Given the description of an element on the screen output the (x, y) to click on. 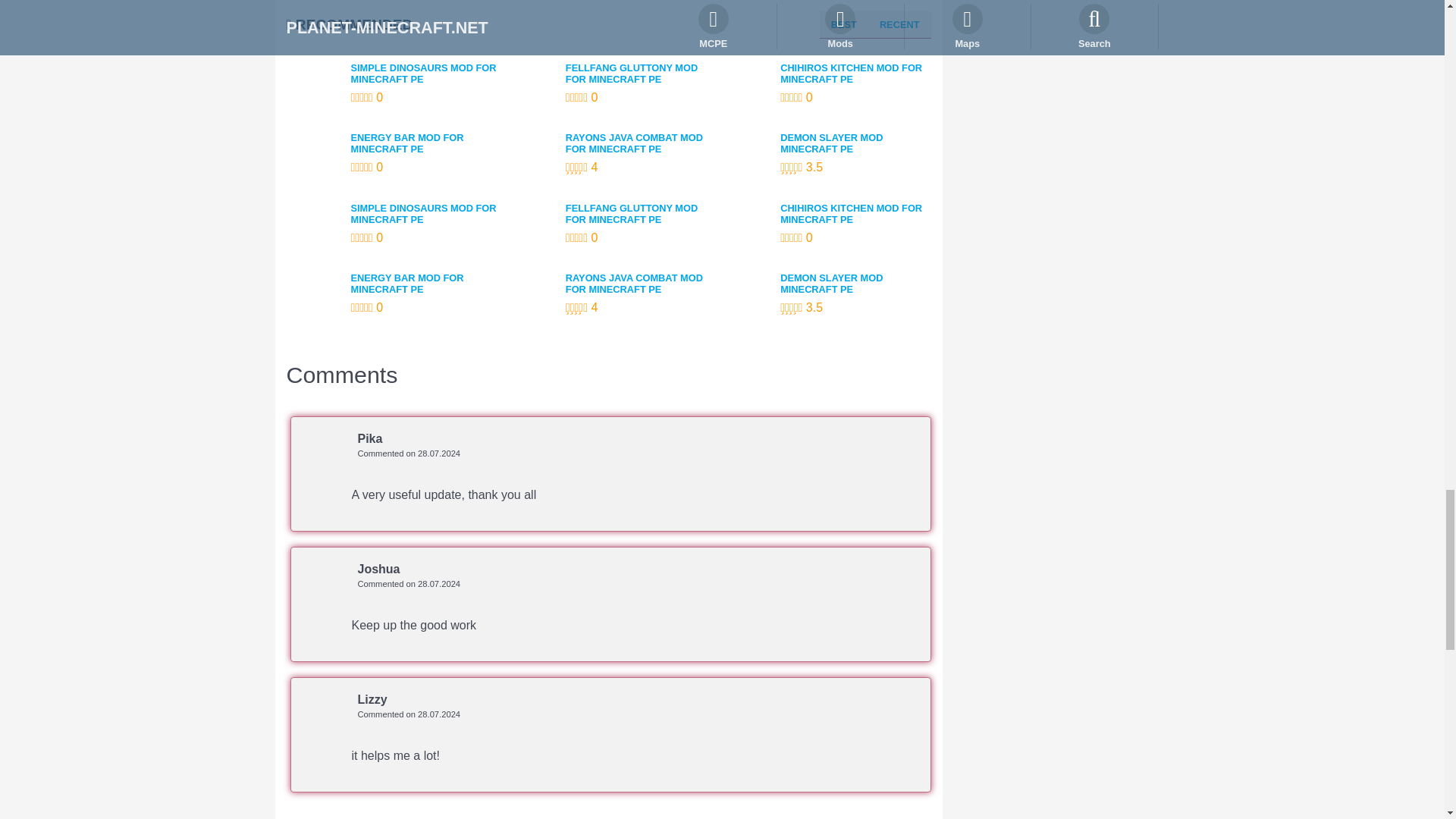
CHIHIROS KITCHEN MOD FOR MINECRAFT PE (855, 73)
FELLFANG GLUTTONY MOD FOR MINECRAFT PE (641, 73)
SIMPLE DINOSAURS MOD FOR MINECRAFT PE (425, 73)
BEST (844, 25)
RECENT (899, 25)
